Given the description of an element on the screen output the (x, y) to click on. 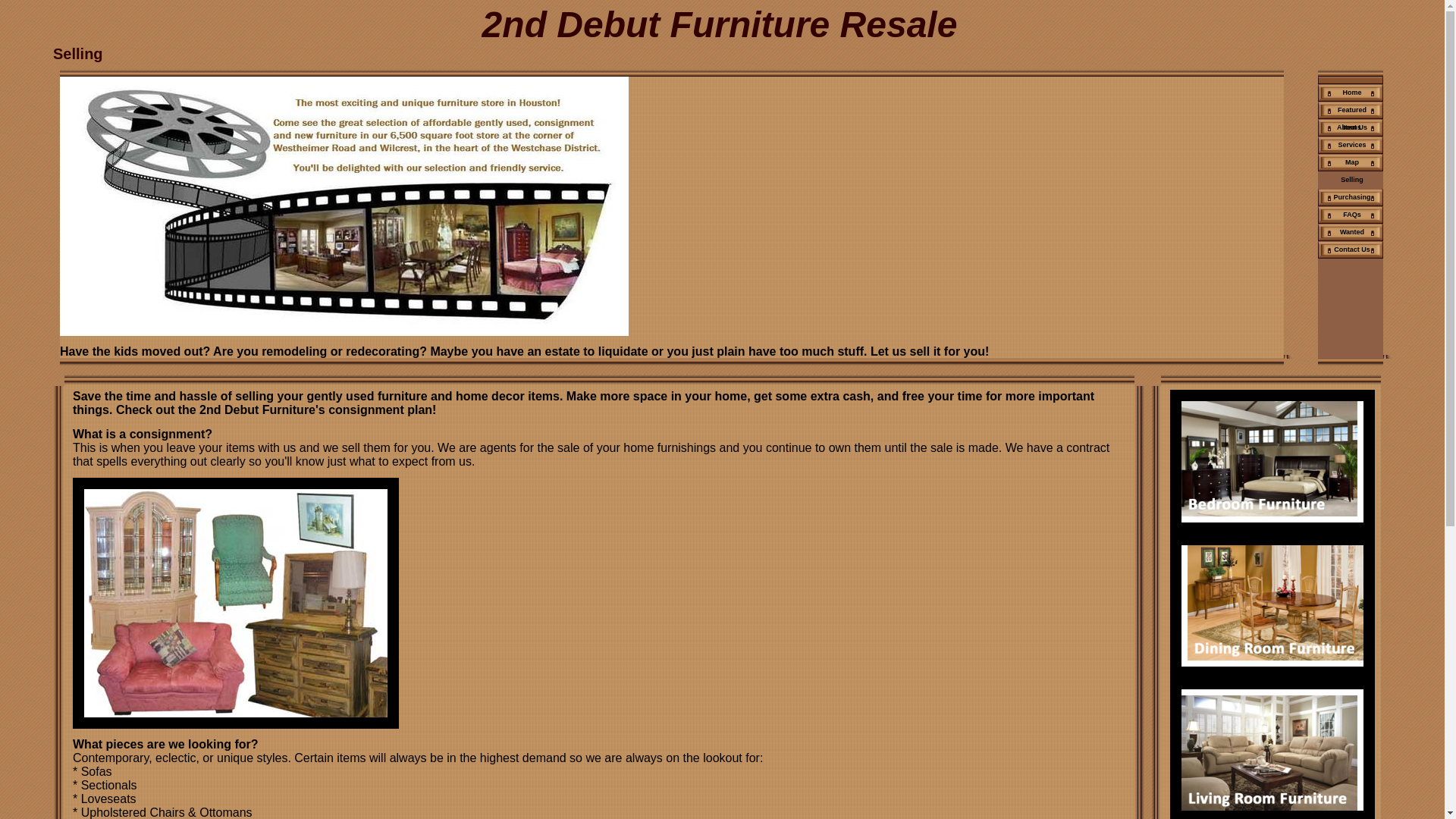
FAQs Element type: text (1350, 214)
Contact Us Element type: text (1350, 249)
About Us Element type: text (1350, 127)
Purchasing Element type: text (1350, 197)
Services Element type: text (1350, 144)
Home Element type: text (1350, 92)
Wanted Element type: text (1350, 232)
Map Element type: text (1350, 162)
Featured Items Element type: text (1350, 110)
Selling Element type: text (1350, 179)
